Given the description of an element on the screen output the (x, y) to click on. 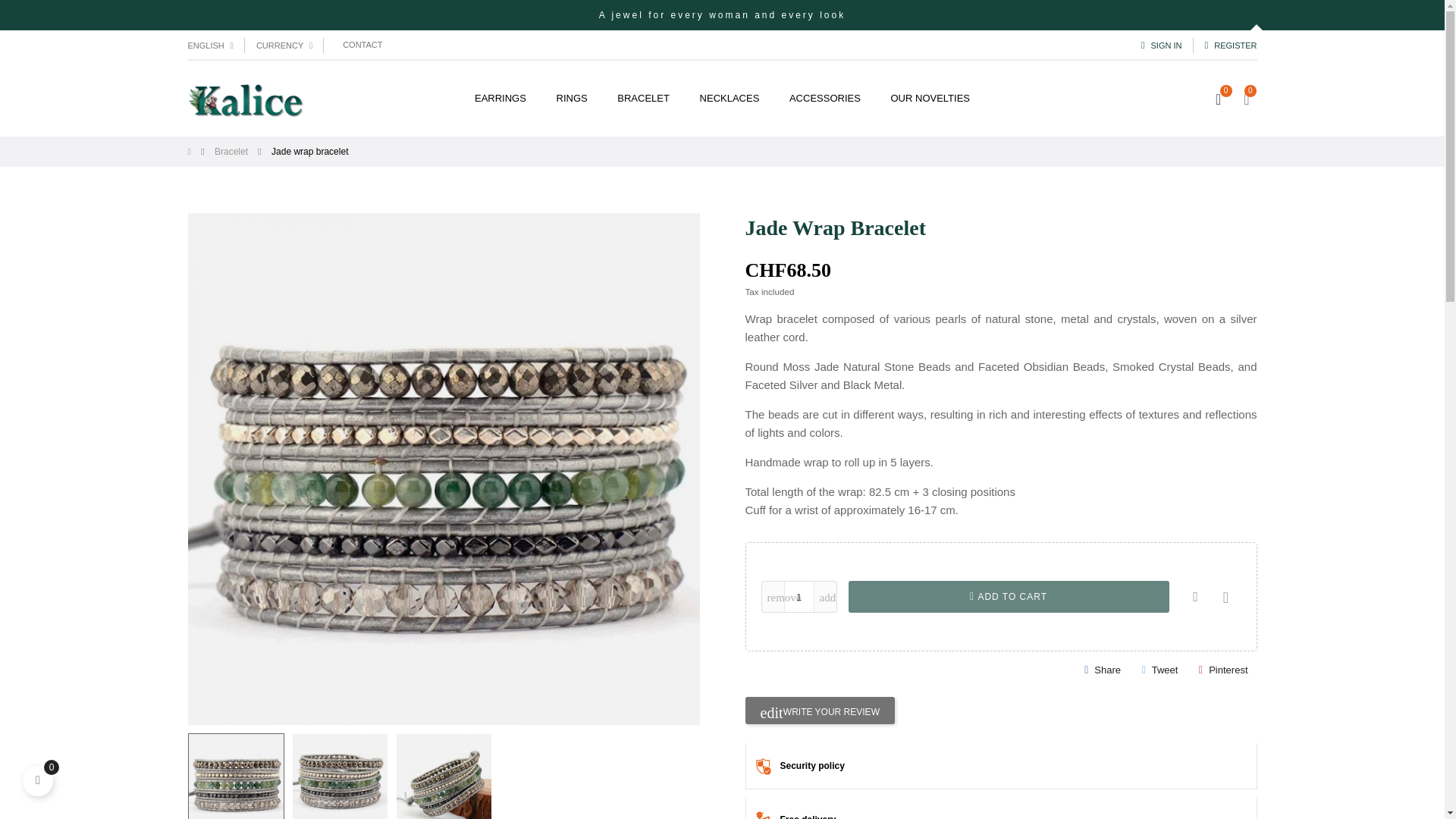
EARRINGS (500, 98)
Language (209, 45)
SIGN IN (1161, 45)
REGISTER (1230, 45)
1 (798, 596)
Currency (284, 45)
ENGLISH (209, 45)
CURRENCY (284, 45)
Log in to your customer account (1230, 45)
CONTACT (362, 45)
